Given the description of an element on the screen output the (x, y) to click on. 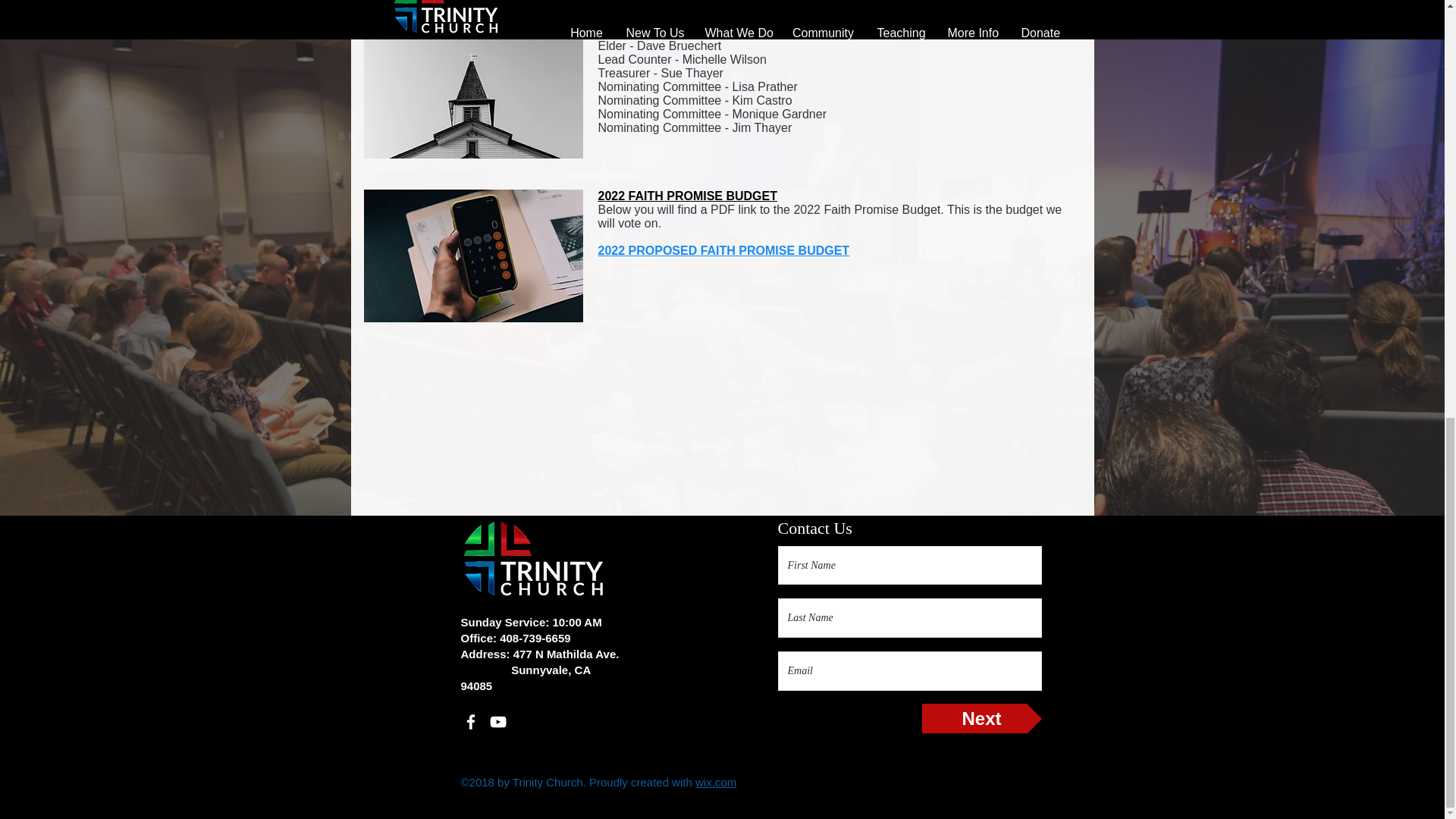
2022 PROPOSED FAITH PROMISE BUDGET (722, 250)
wix.com (715, 781)
Next (981, 718)
